Given the description of an element on the screen output the (x, y) to click on. 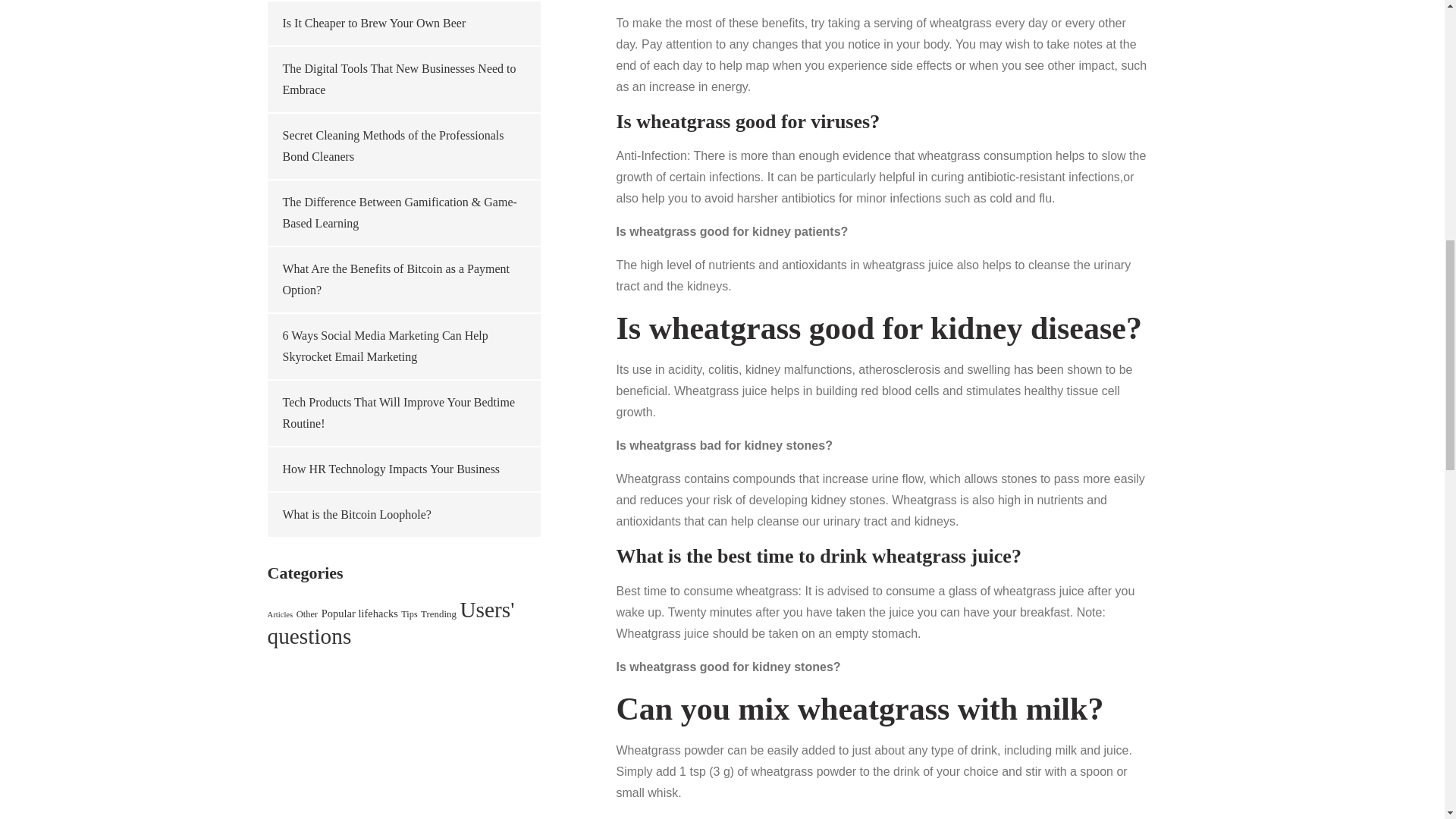
Tech Products That Will Improve Your Bedtime Routine! (398, 412)
What Are the Benefits of Bitcoin as a Payment Option? (395, 279)
What is the Bitcoin Loophole? (356, 513)
The Digital Tools That New Businesses Need to Embrace (398, 79)
Is It Cheaper to Brew Your Own Beer (373, 22)
Secret Cleaning Methods of the Professionals Bond Cleaners (392, 145)
How HR Technology Impacts Your Business (390, 468)
